Given the description of an element on the screen output the (x, y) to click on. 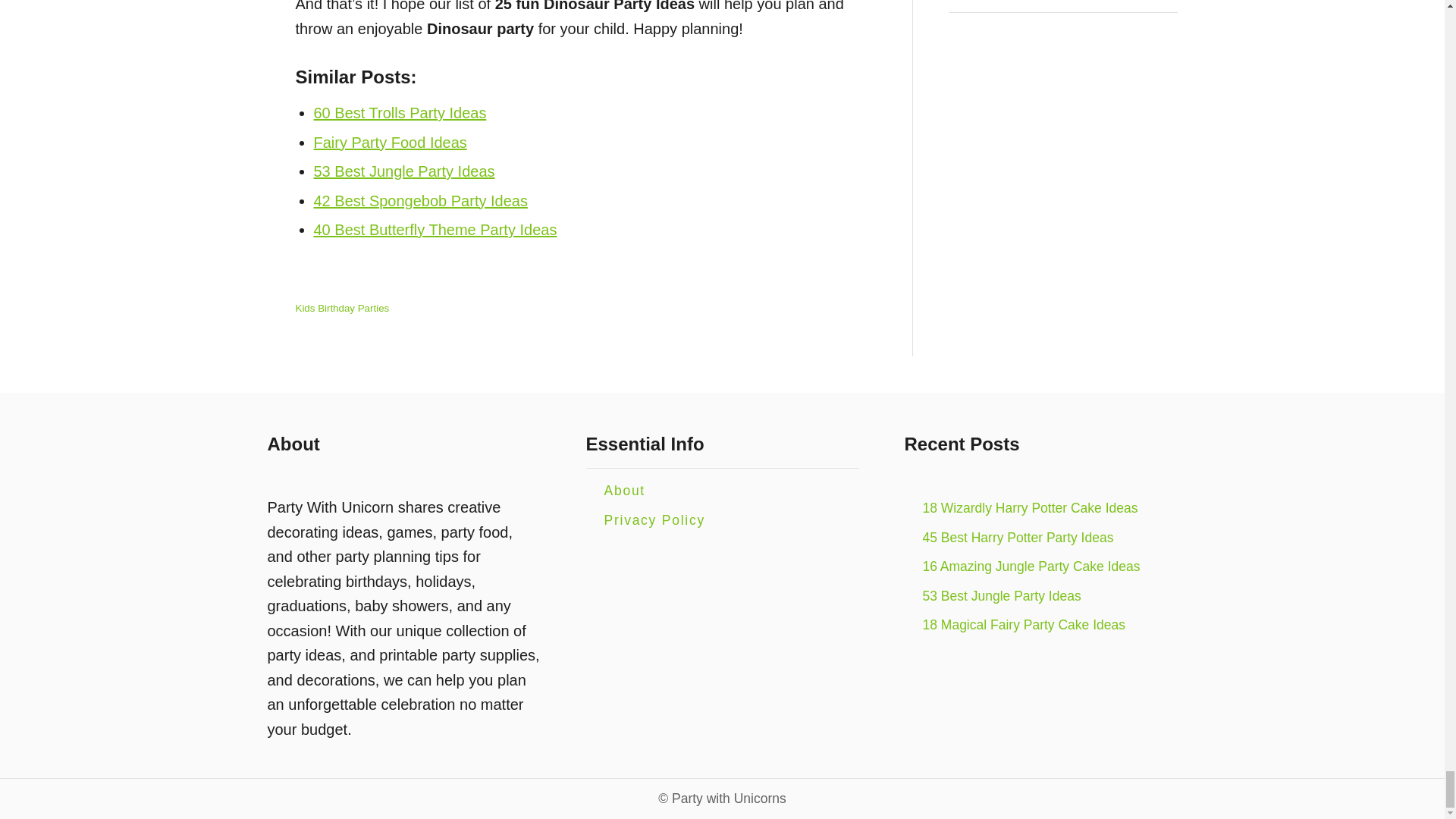
53 Best Jungle Party Ideas (404, 170)
42 Best Spongebob Party Ideas (420, 200)
60 Best Trolls Party Ideas (400, 112)
Fairy Party Food Ideas (390, 142)
40 Best Butterfly Theme Party Ideas (435, 229)
